Given the description of an element on the screen output the (x, y) to click on. 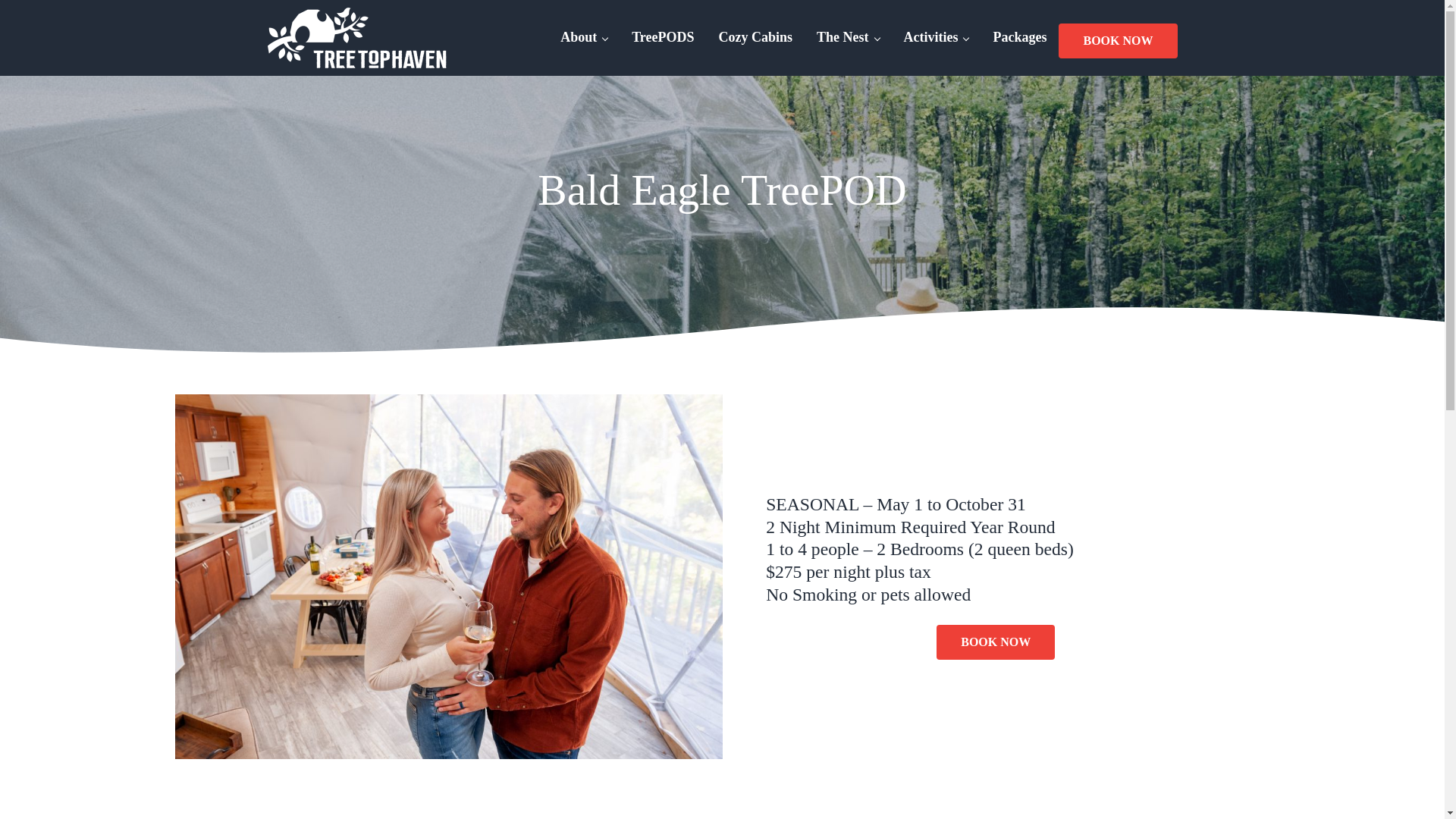
BOOK NOW (1117, 40)
Packages (1018, 37)
Cozy Cabins (755, 37)
About (584, 37)
TreePODS (663, 37)
The Nest (848, 37)
Activities (936, 37)
